Given the description of an element on the screen output the (x, y) to click on. 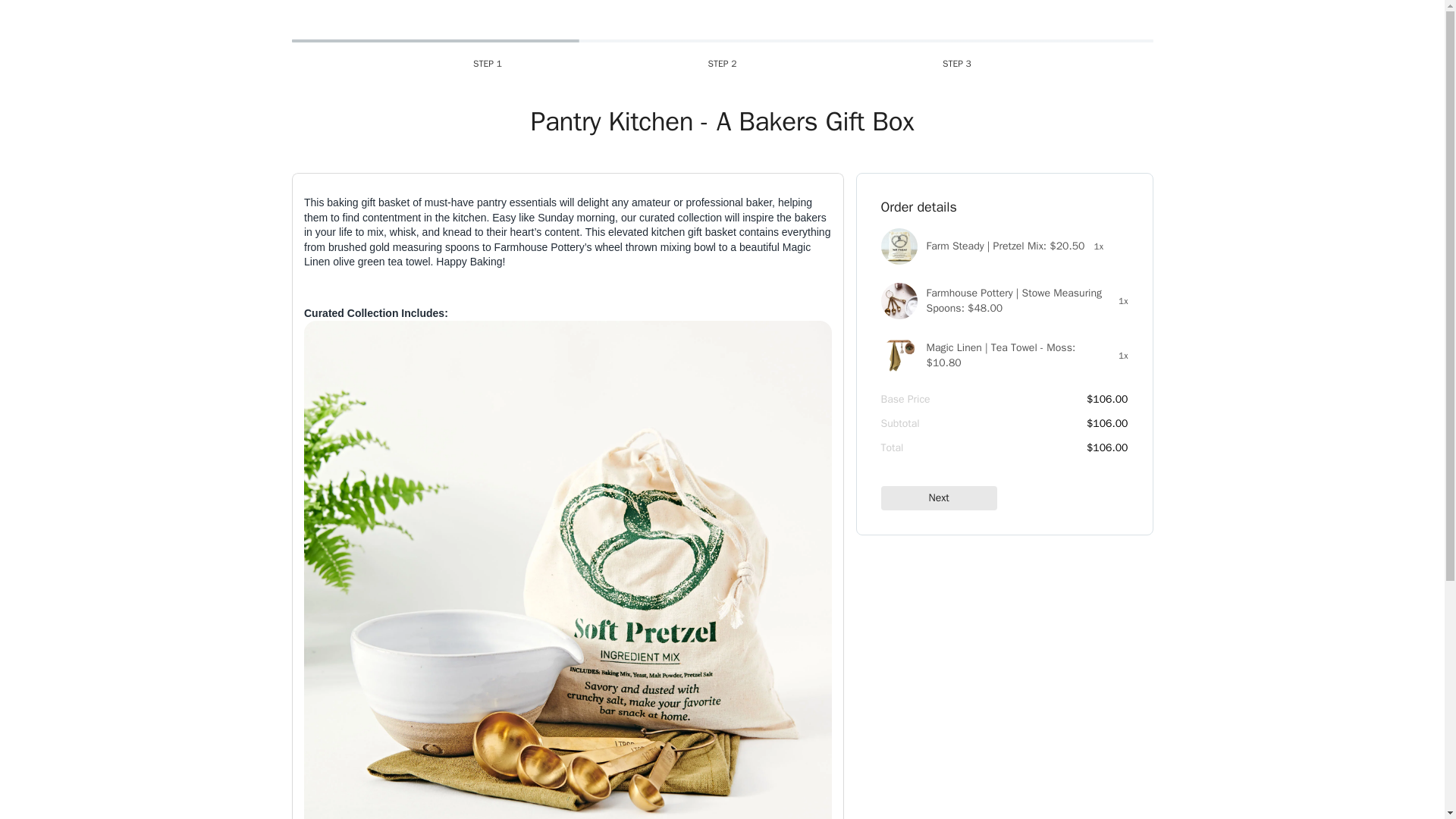
STEP 3 (956, 65)
Next (938, 498)
STEP 2 (722, 65)
STEP 1 (486, 65)
